Given the description of an element on the screen output the (x, y) to click on. 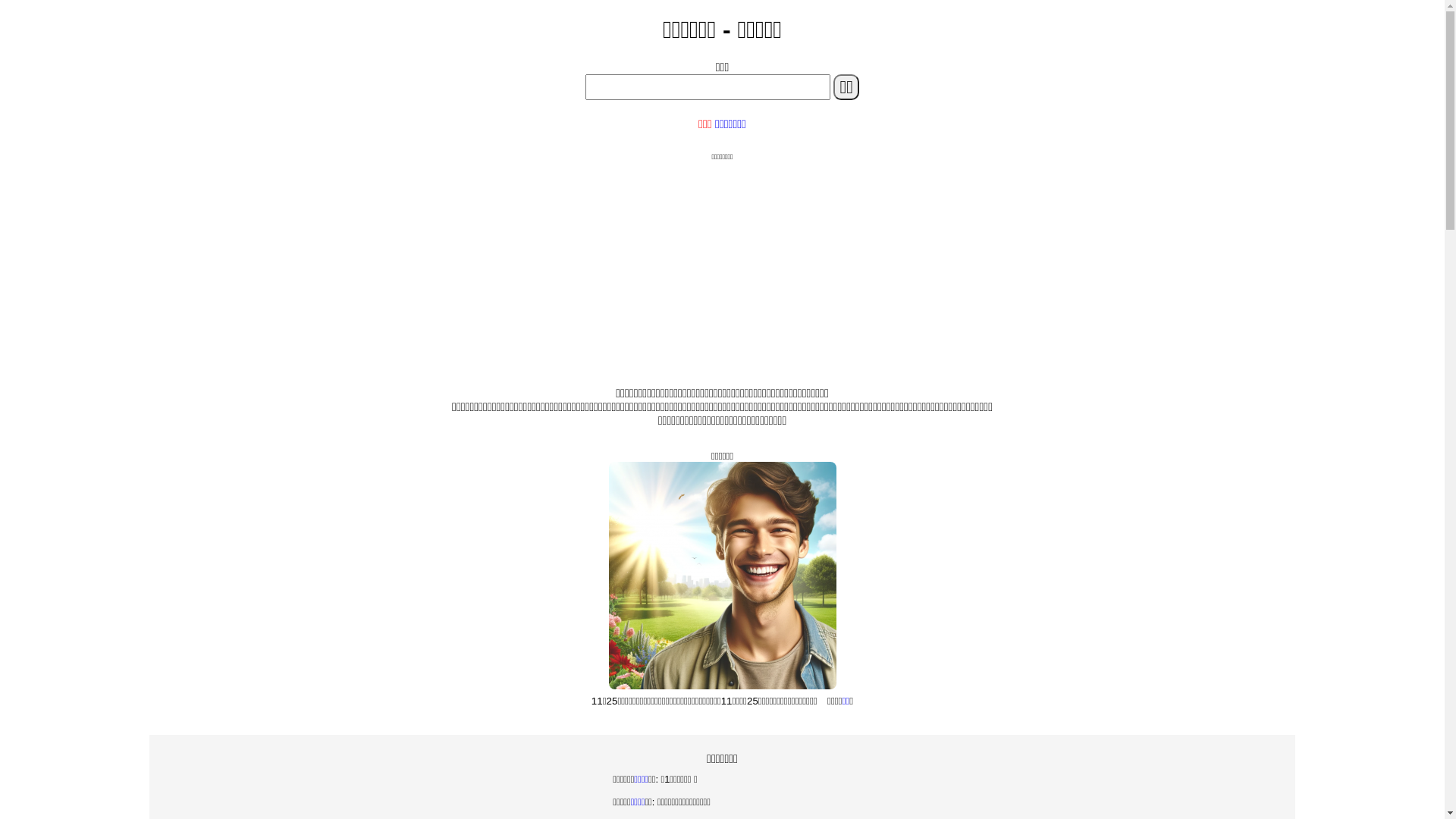
Advertisement Element type: hover (721, 268)
